Given the description of an element on the screen output the (x, y) to click on. 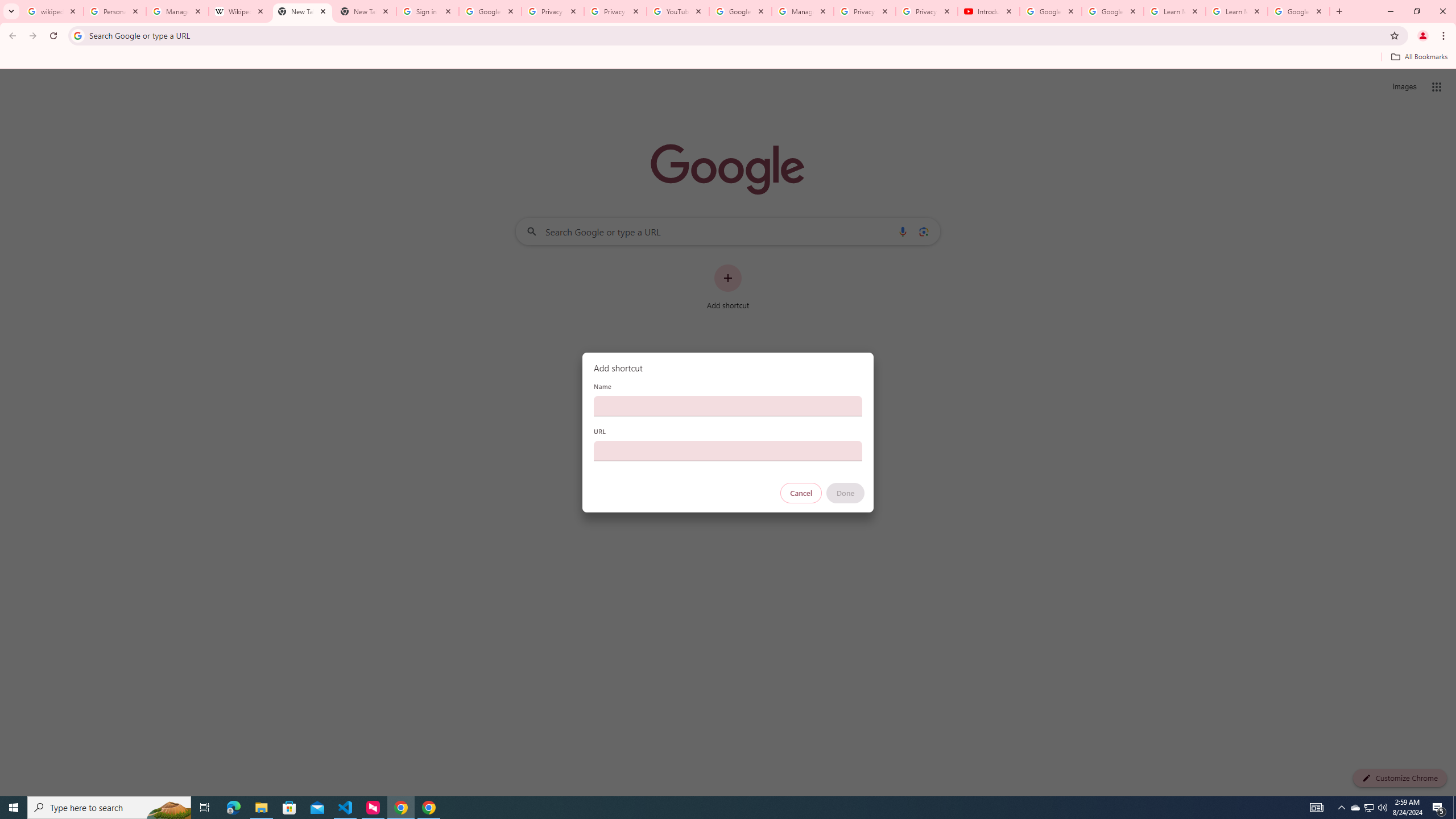
New Tab (365, 11)
Name (727, 405)
Introduction | Google Privacy Policy - YouTube (988, 11)
Google Account (1298, 11)
